Given the description of an element on the screen output the (x, y) to click on. 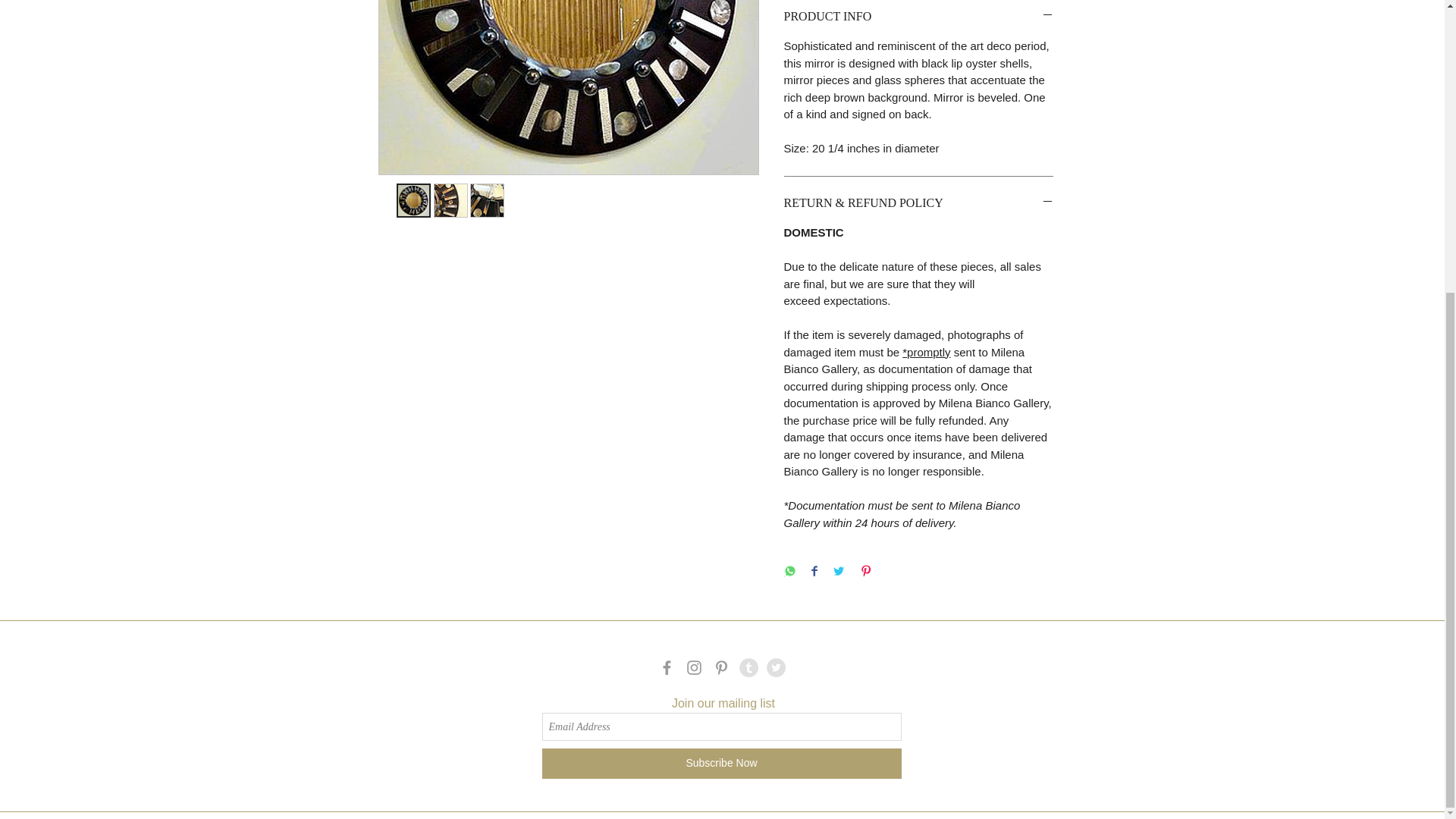
PRODUCT INFO (918, 16)
Subscribe Now (721, 763)
